Given the description of an element on the screen output the (x, y) to click on. 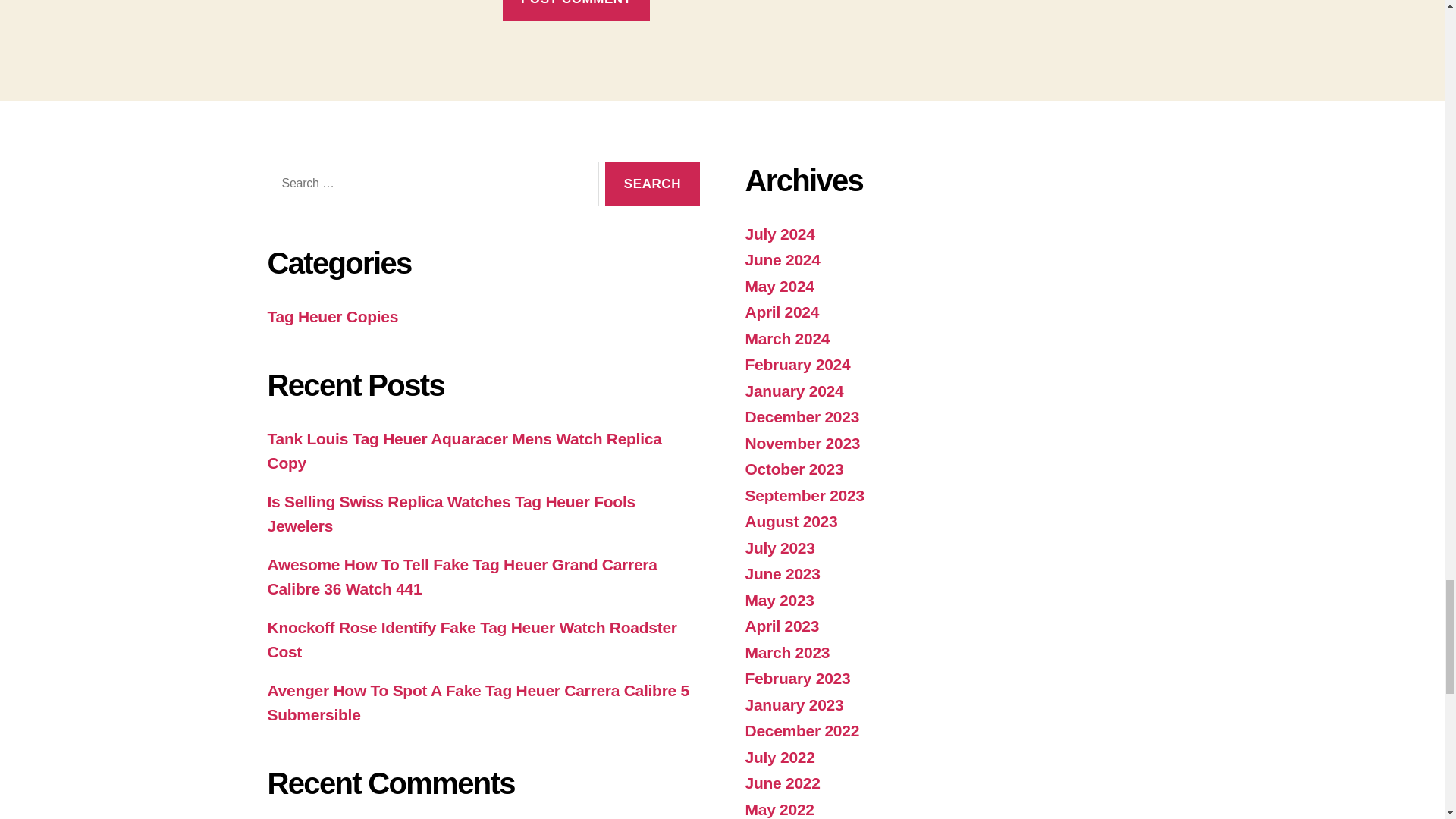
Search (651, 183)
June 2024 (781, 259)
April 2024 (781, 312)
Knockoff Rose Identify Fake Tag Heuer Watch Roadster Cost (471, 639)
Is Selling Swiss Replica Watches Tag Heuer Fools Jewelers (450, 513)
Search (651, 183)
Post Comment (575, 10)
February 2024 (797, 364)
Tank Louis Tag Heuer Aquaracer Mens Watch Replica Copy (463, 450)
March 2024 (786, 338)
July 2024 (778, 233)
January 2024 (793, 390)
Post Comment (575, 10)
